Given the description of an element on the screen output the (x, y) to click on. 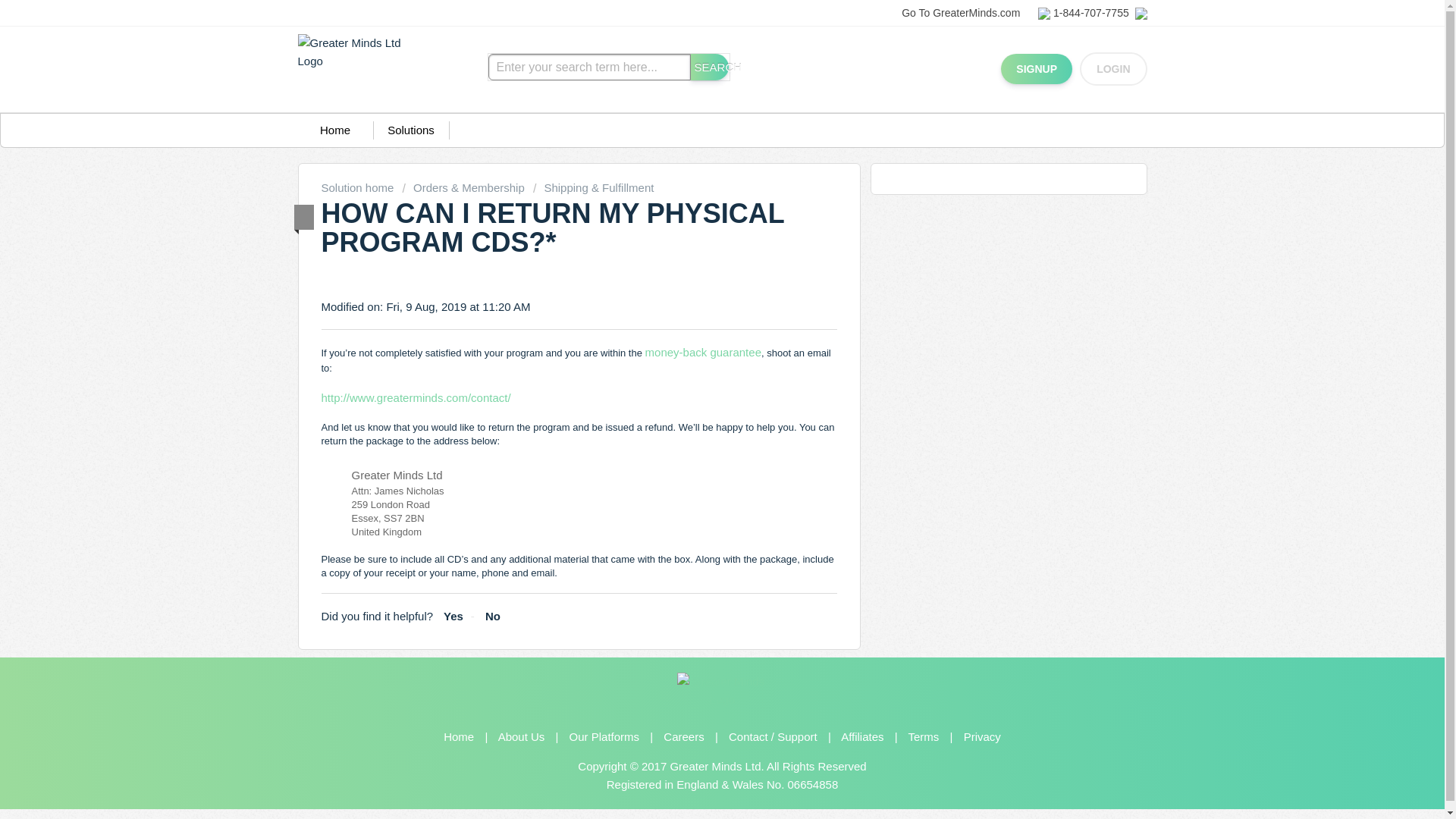
1-844-707-7755   (1092, 13)
SEARCH (709, 67)
Careers (683, 736)
Solutions (410, 130)
money-back guarantee (703, 351)
Affiliates (862, 736)
Terms (923, 736)
About Us (520, 736)
Home (334, 130)
SIGNUP (1036, 69)
